Given the description of an element on the screen output the (x, y) to click on. 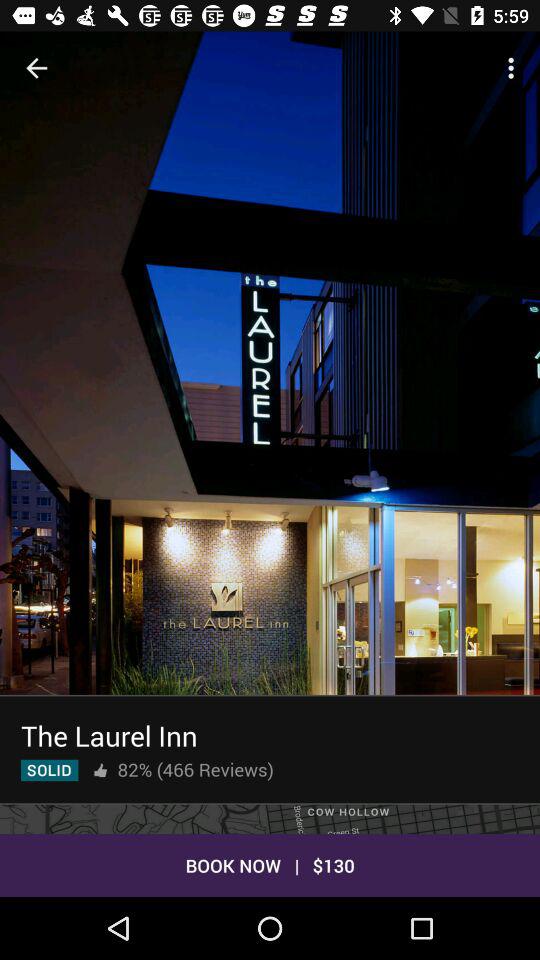
launch item below the laurel inn icon (100, 770)
